Given the description of an element on the screen output the (x, y) to click on. 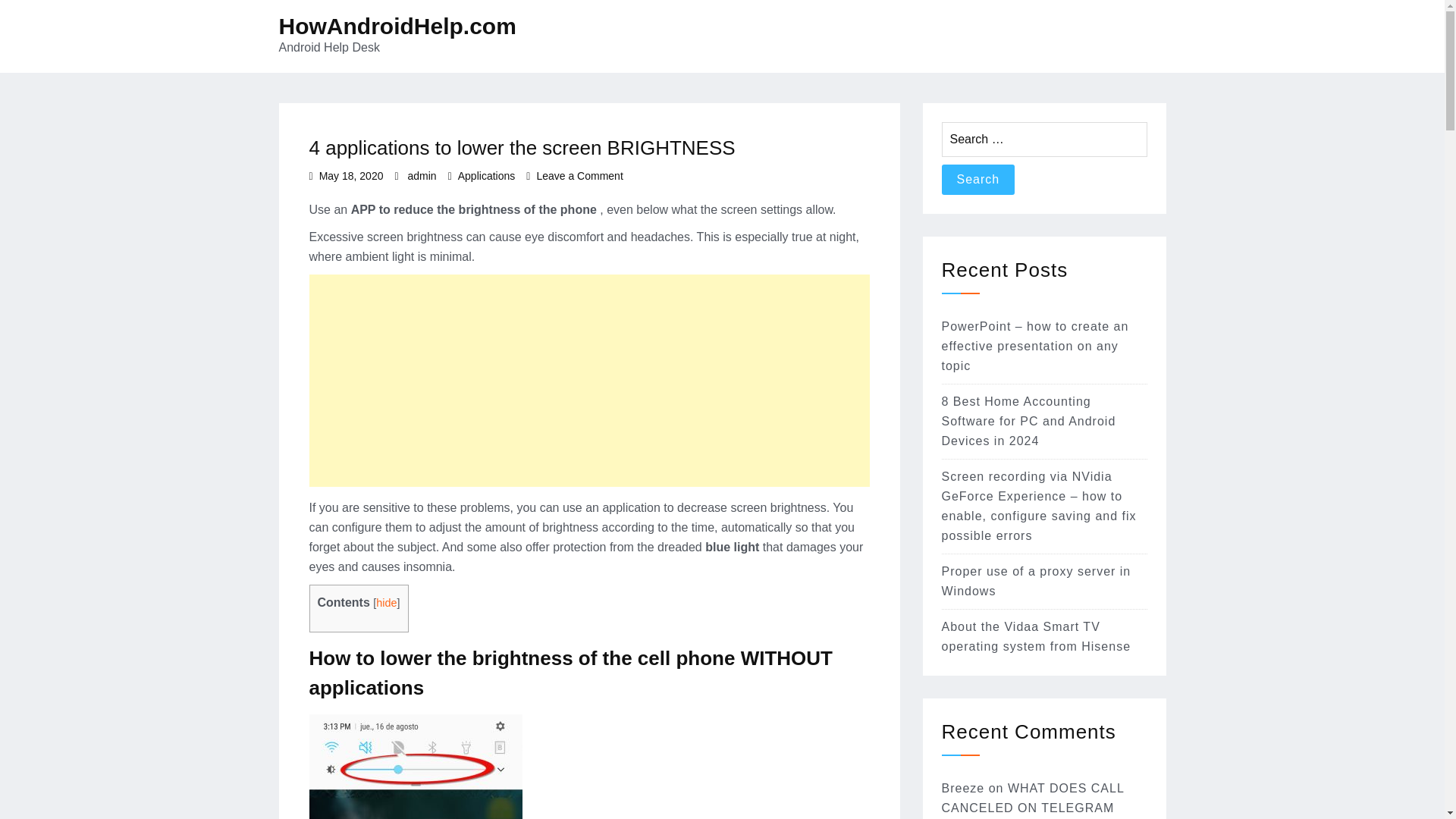
Applications (486, 175)
Search (978, 179)
HowAndroidHelp.com (397, 25)
Advertisement (588, 380)
WHAT DOES CALL CANCELED ON TELEGRAM MEAN (1033, 800)
May 18, 2020 (351, 175)
Search (978, 179)
hide (385, 603)
About the Vidaa Smart TV operating system from Hisense (1036, 635)
Proper use of a proxy server in Windows (1036, 581)
Search (978, 179)
admin (421, 175)
